Given the description of an element on the screen output the (x, y) to click on. 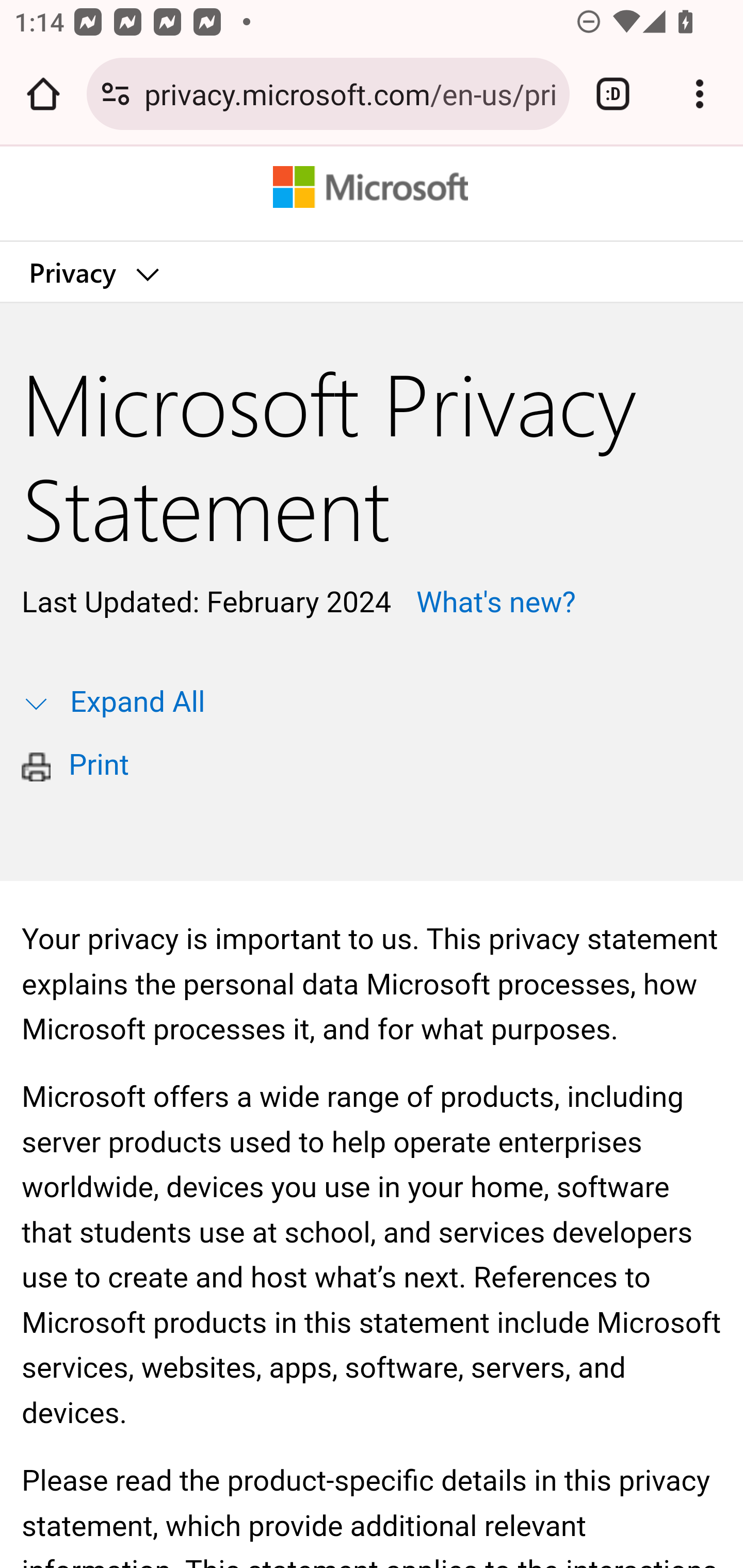
Open the home page (43, 93)
Connection is secure (115, 93)
Switch or close tabs (612, 93)
Customize and control Google Chrome (699, 93)
privacy.microsoft.com/en-us/privacystatement (349, 92)
Privacy (92, 271)
 What's new? (491, 602)
Expand All (137, 702)
Print (99, 765)
